Given the description of an element on the screen output the (x, y) to click on. 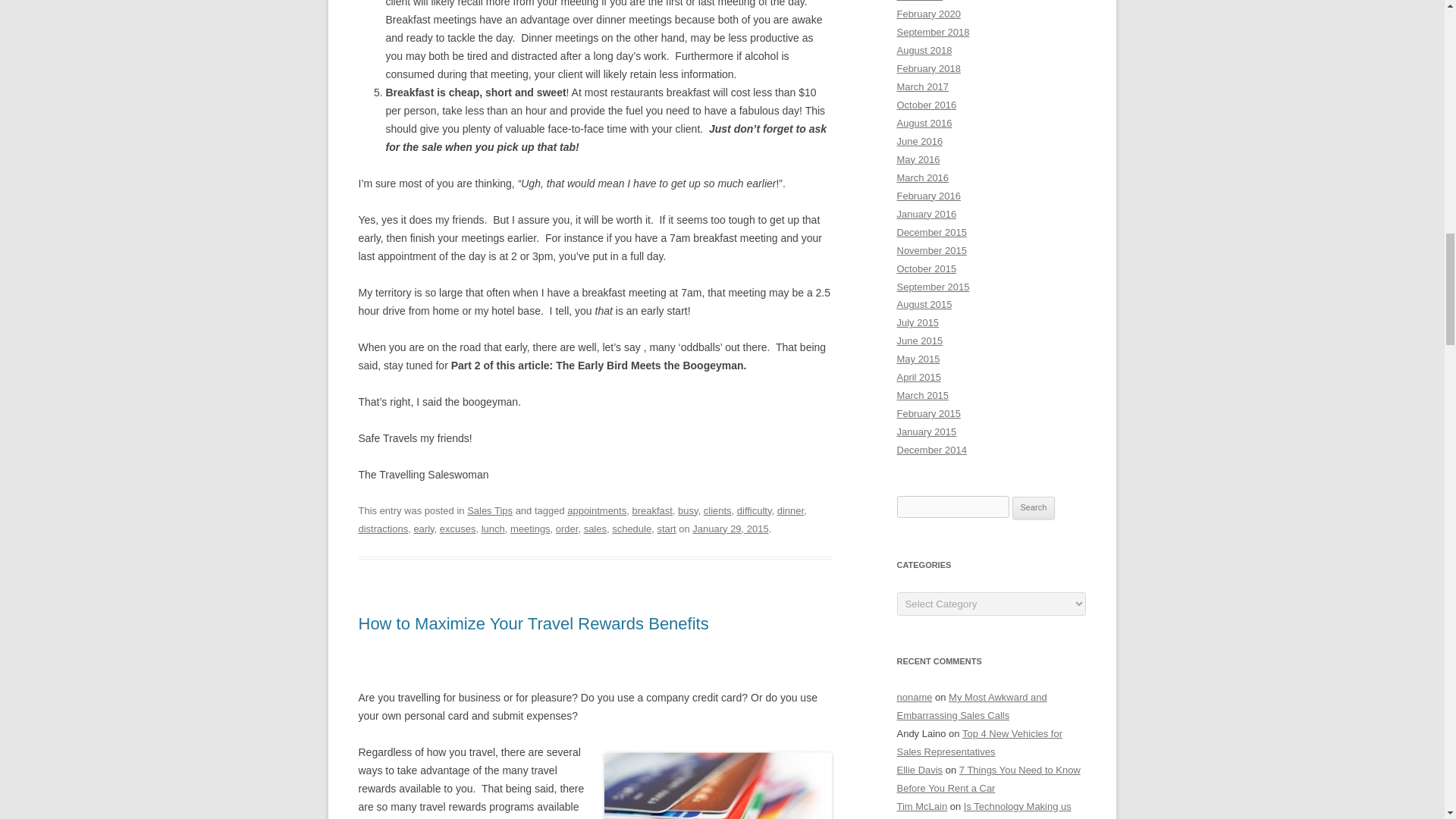
January 29, 2015 (730, 528)
lunch (493, 528)
schedule (630, 528)
appointments (596, 510)
distractions (382, 528)
busy (687, 510)
breakfast (651, 510)
sales (595, 528)
clients (717, 510)
meetings (530, 528)
difficulty (753, 510)
How to Maximize Your Travel Rewards Benefits (532, 623)
Sales Tips (489, 510)
early (423, 528)
start (665, 528)
